Given the description of an element on the screen output the (x, y) to click on. 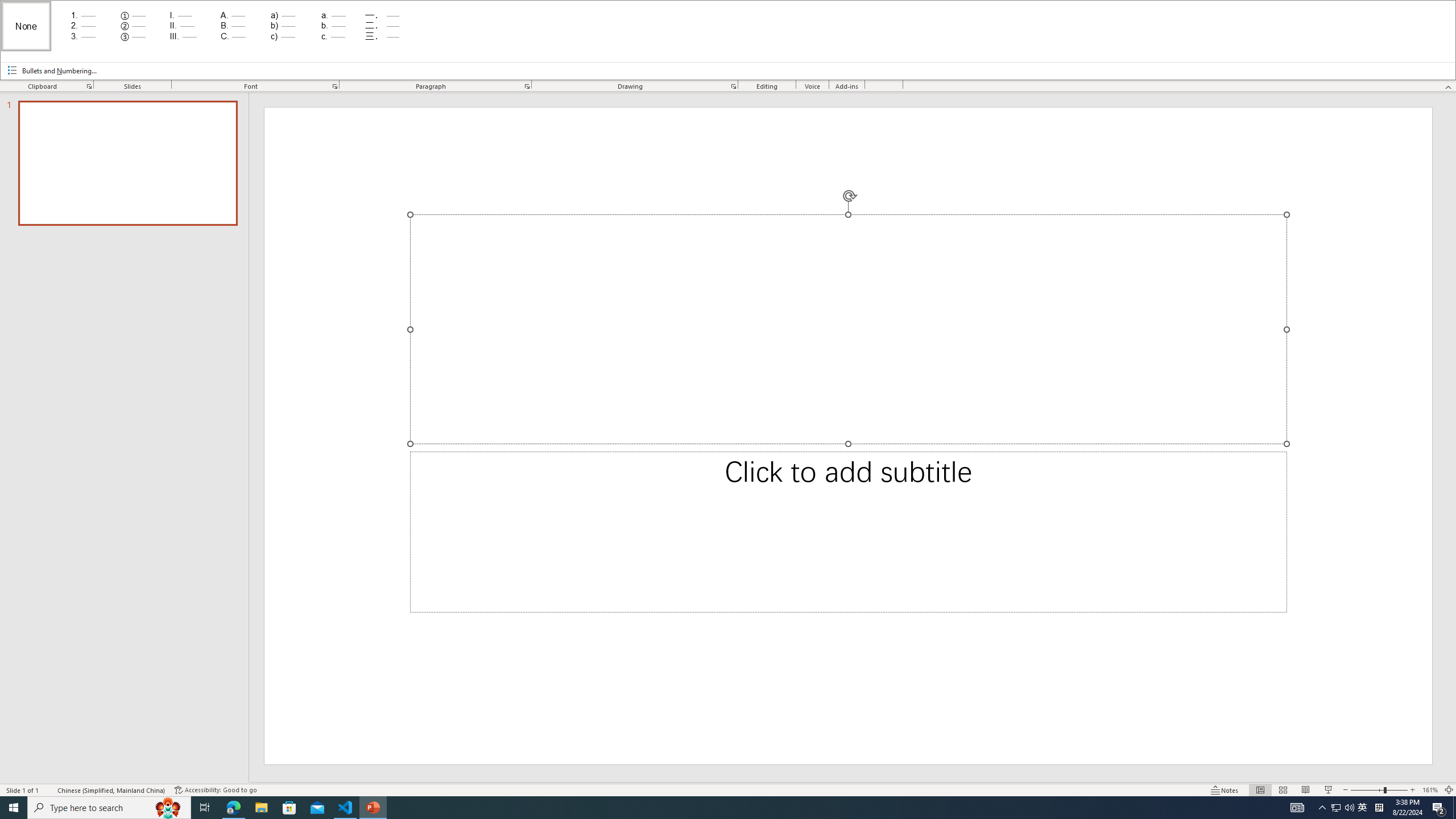
Spell Check  (49, 790)
